Given the description of an element on the screen output the (x, y) to click on. 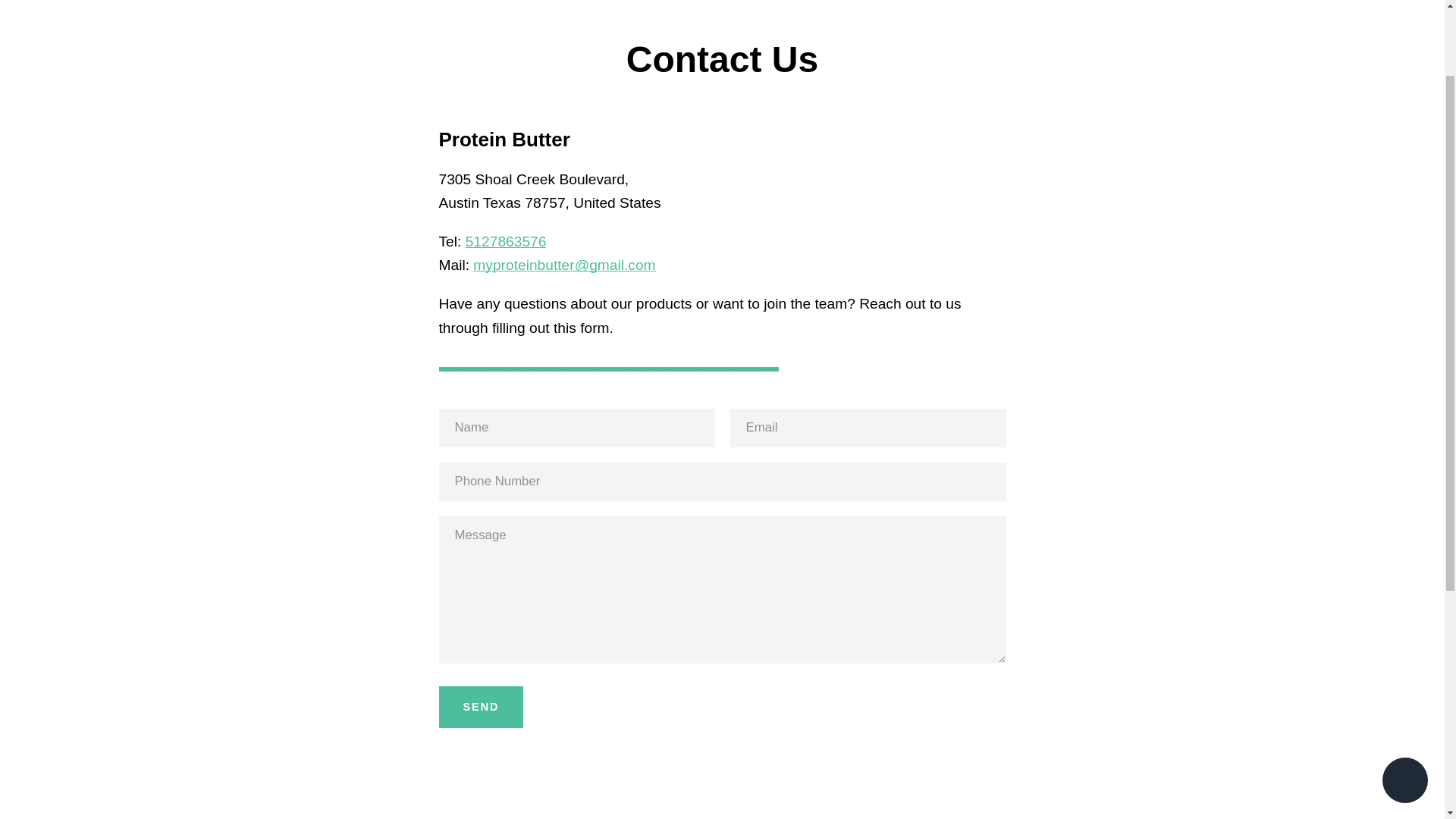
Discover (988, 651)
CONTACT US (411, 439)
Send (480, 707)
TERMS OF SERVICE (432, 463)
BLOG (389, 565)
Mastercard (918, 674)
SITEMAP (399, 590)
Meta Pay (1022, 651)
Diners Club (953, 651)
PRIVACY POLICY (423, 490)
